Given the description of an element on the screen output the (x, y) to click on. 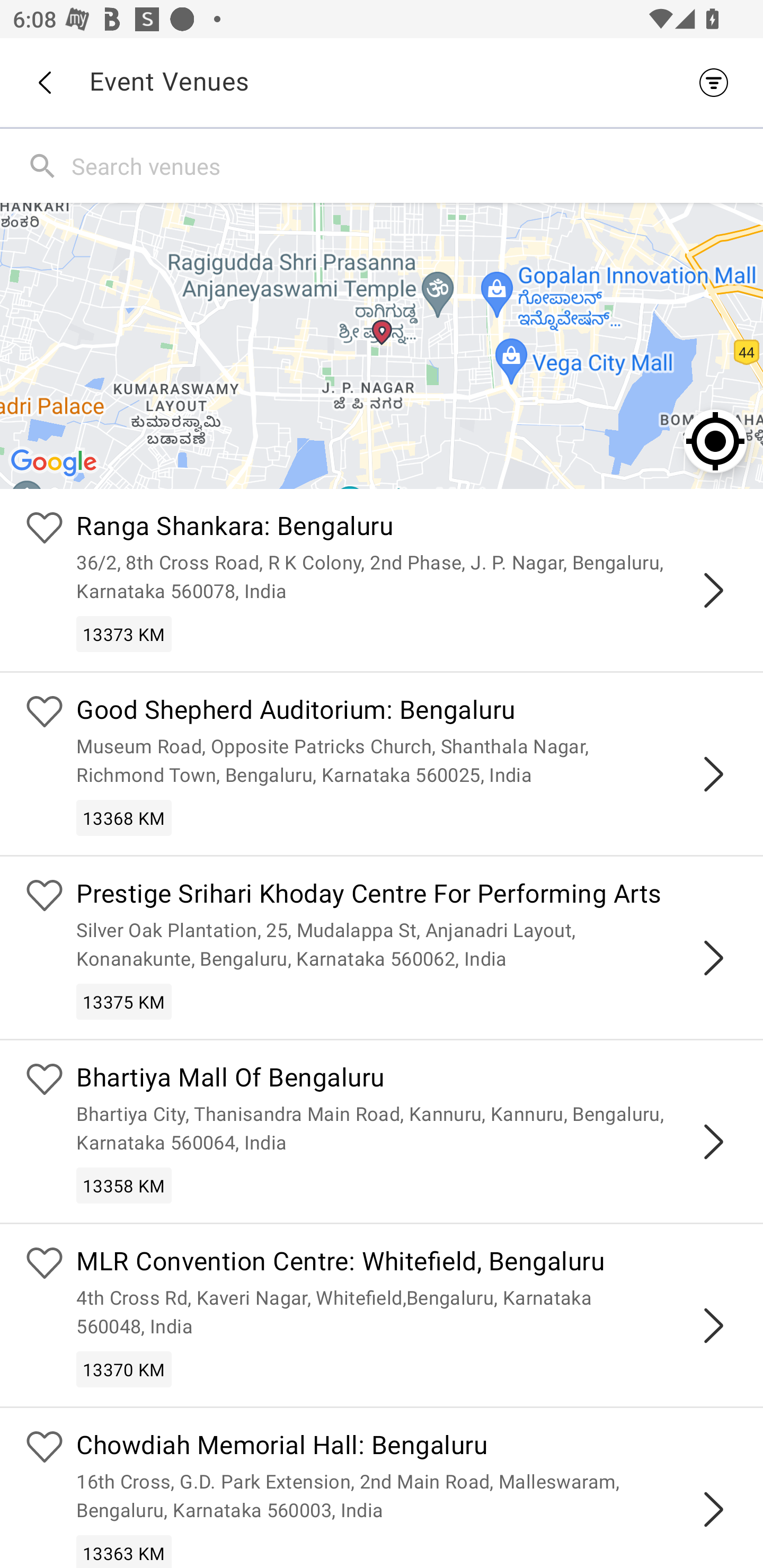
Back Event Venues Filter (381, 82)
Filter (718, 82)
Back (44, 82)
Search venues (413, 165)
Google Map Ranga Shankara: Bengaluru (381, 345)
Ranga Shankara: Bengaluru (406, 528)
 (713, 590)
13373 KM (123, 634)
Good Shepherd Auditorium: Bengaluru (406, 711)
 (713, 773)
13368 KM (123, 817)
Prestige Srihari Khoday Centre For Performing Arts (406, 894)
 (713, 957)
13375 KM (123, 1001)
Bhartiya Mall Of Bengaluru (406, 1079)
 (713, 1141)
13358 KM (123, 1186)
MLR Convention Centre: Whitefield, Bengaluru (406, 1263)
 (713, 1325)
13370 KM (123, 1369)
Chowdiah Memorial Hall: Bengaluru (406, 1446)
 (713, 1508)
13363 KM (123, 1551)
